Given the description of an element on the screen output the (x, y) to click on. 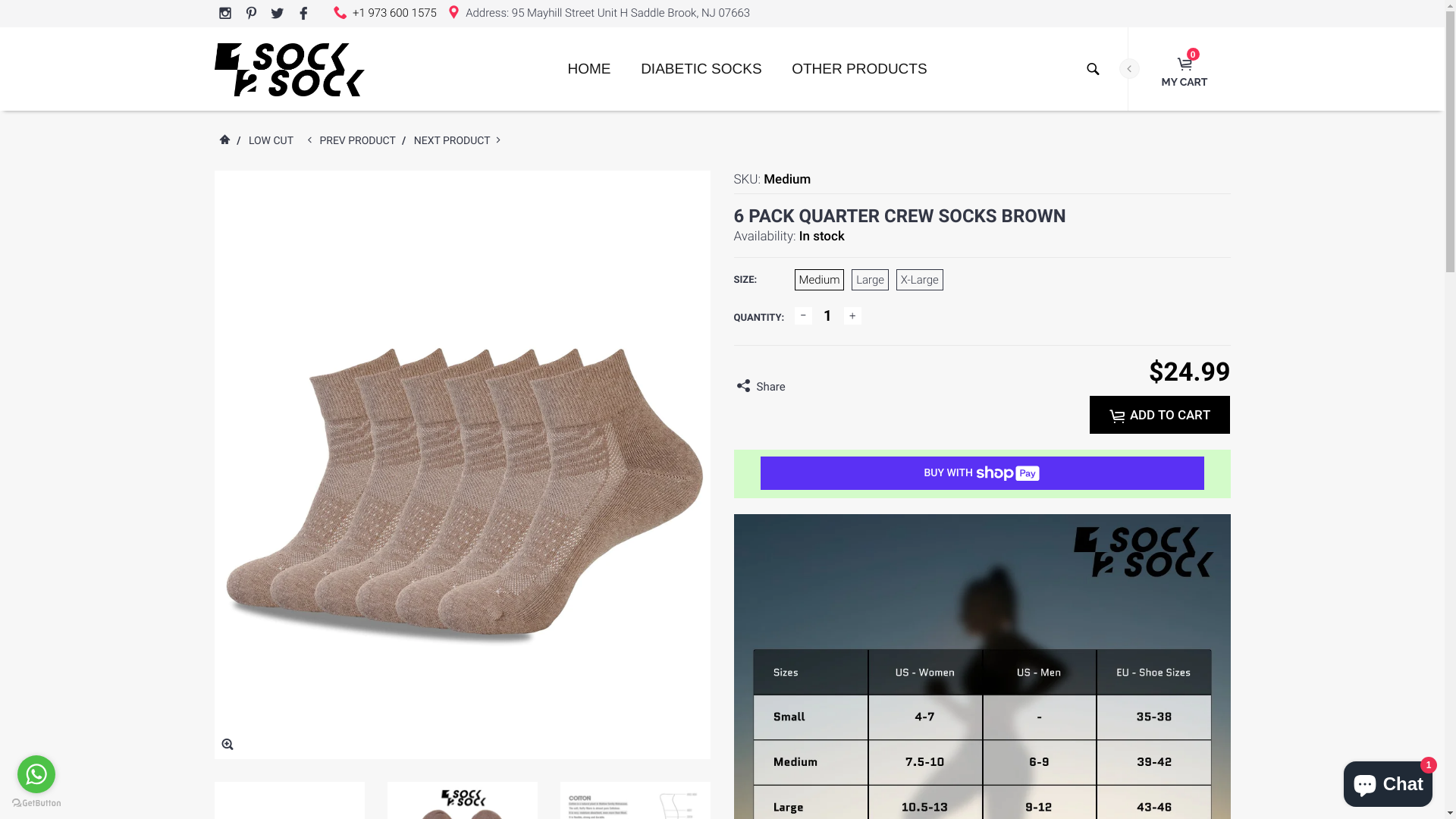
DIABETIC SOCKS Element type: text (700, 76)
HOME Element type: text (588, 76)
Medium Element type: text (819, 279)
OTHER PRODUCTS Element type: text (858, 76)
X-Large Element type: text (919, 279)
PREV PRODUCT Element type: text (357, 140)
NEXT PRODUCT Element type: text (452, 140)
0
MY CART Element type: text (1184, 74)
Back to the frontpage Element type: hover (223, 140)
ADD TO CART Element type: text (1159, 414)
Logo Element type: hover (288, 68)
LOW CUT Element type: text (270, 140)
Shopify online store chat Element type: hover (1388, 780)
+1 973 600 1575 Element type: text (394, 12)
Large Element type: text (869, 279)
